Given the description of an element on the screen output the (x, y) to click on. 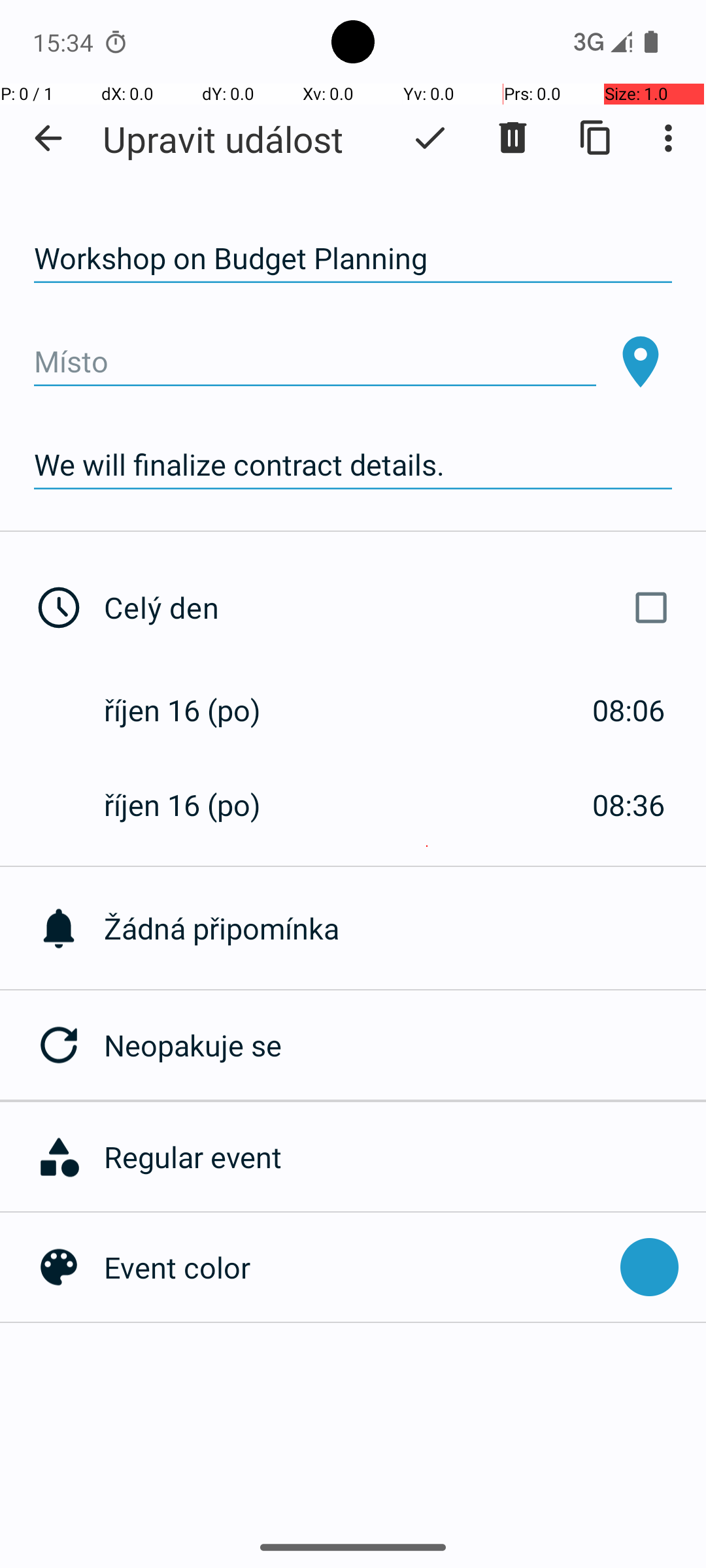
Upravit událost Element type: android.widget.TextView (222, 138)
Uložit Element type: android.widget.Button (429, 137)
Smazat Element type: android.widget.Button (512, 137)
Zkopírovat událost Element type: android.widget.Button (595, 137)
Místo Element type: android.widget.EditText (314, 361)
We will finalize contract details. Element type: android.widget.EditText (352, 465)
říjen 16 (po) Element type: android.widget.TextView (195, 709)
08:06 Element type: android.widget.TextView (628, 709)
08:36 Element type: android.widget.TextView (628, 804)
Žádná připomínka Element type: android.widget.TextView (404, 927)
Neopakuje se Element type: android.widget.TextView (404, 1044)
Celý den Element type: android.widget.CheckBox (390, 607)
